Given the description of an element on the screen output the (x, y) to click on. 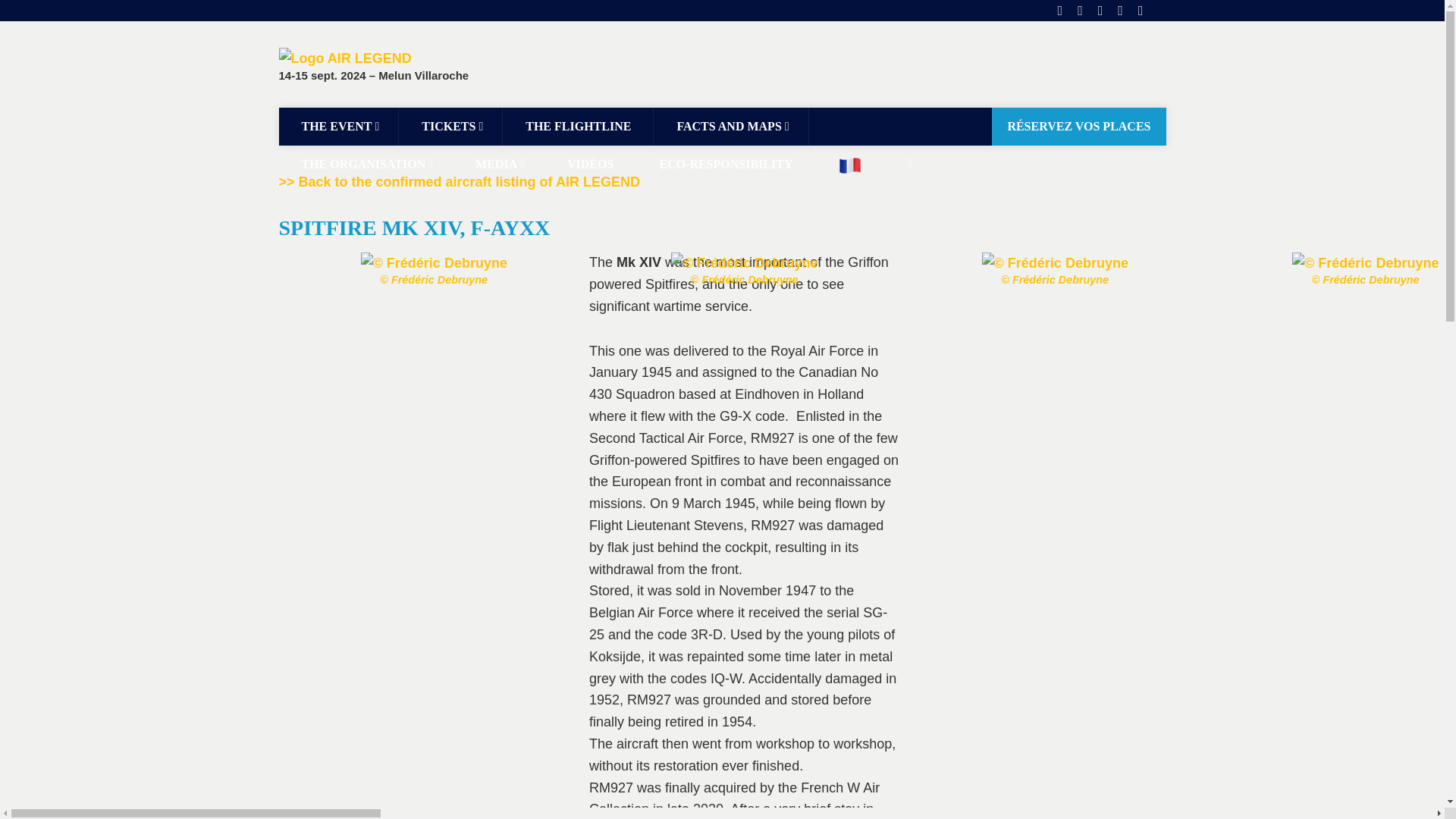
TICKETS (450, 126)
THE FLIGHTLINE (577, 126)
FACTS AND MAPS (730, 126)
THE EVENT (338, 126)
